Given the description of an element on the screen output the (x, y) to click on. 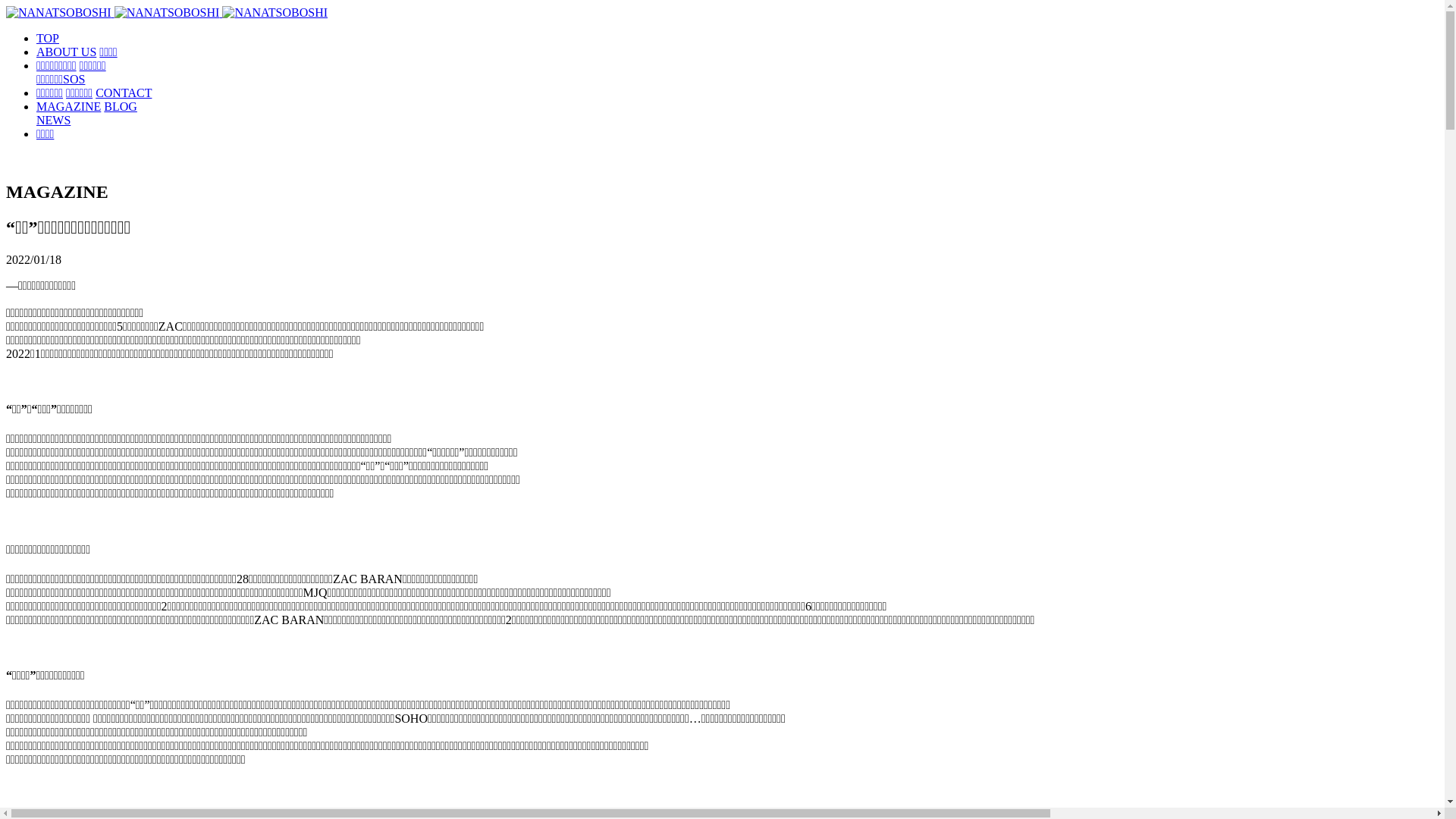
BLOG Element type: text (120, 106)
CONTACT Element type: text (123, 92)
TOP Element type: text (47, 37)
NEWS Element type: text (53, 119)
ABOUT US Element type: text (66, 51)
MAGAZINE Element type: text (68, 106)
